Given the description of an element on the screen output the (x, y) to click on. 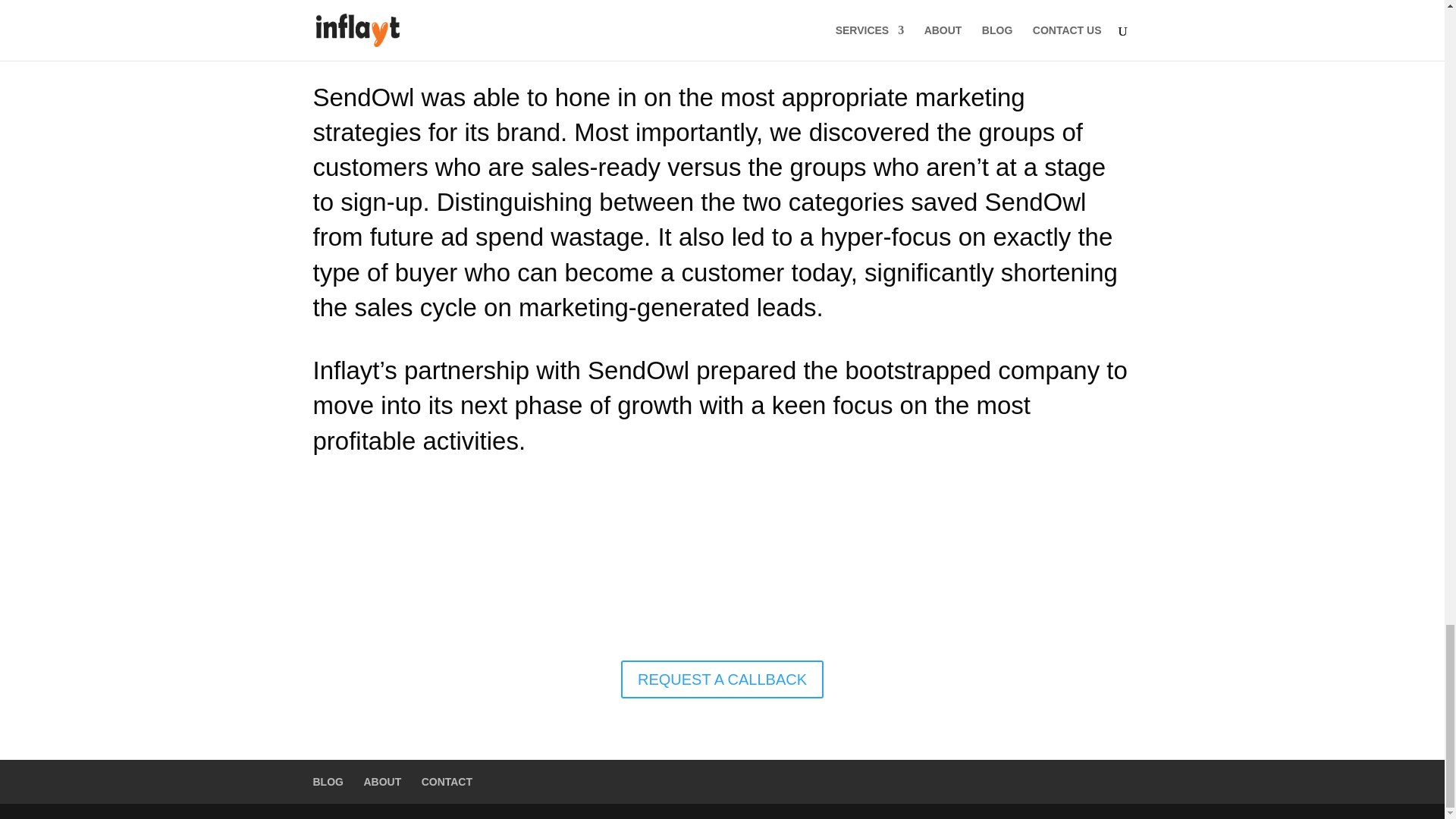
CONTACT (446, 781)
REQUEST A CALLBACK (722, 679)
ABOUT (381, 781)
BLOG (327, 781)
